Given the description of an element on the screen output the (x, y) to click on. 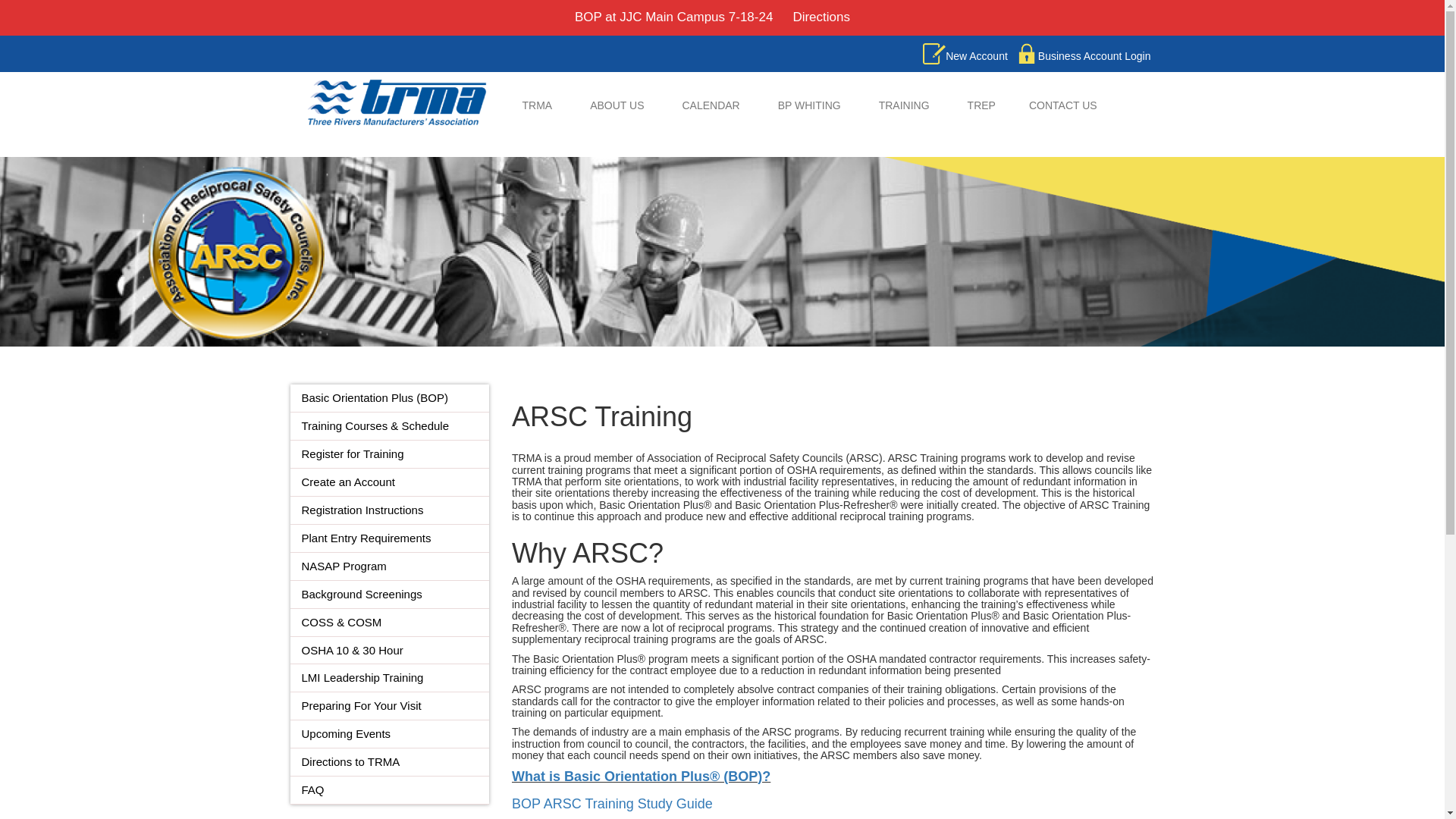
Background Screenings (361, 594)
Registration Instructions (362, 509)
CONTACT US (1057, 105)
TREP (981, 105)
Register for Training (352, 453)
Preparing For Your Visit (361, 705)
New Account (965, 55)
Business Account Login (1082, 55)
BOP ARSC Training Study Guide (612, 803)
LMI Leadership Training (362, 676)
Directions (821, 17)
FAQ (312, 789)
Create an Account (347, 481)
NASAP Program (344, 565)
Directions to TRMA (350, 761)
